Given the description of an element on the screen output the (x, y) to click on. 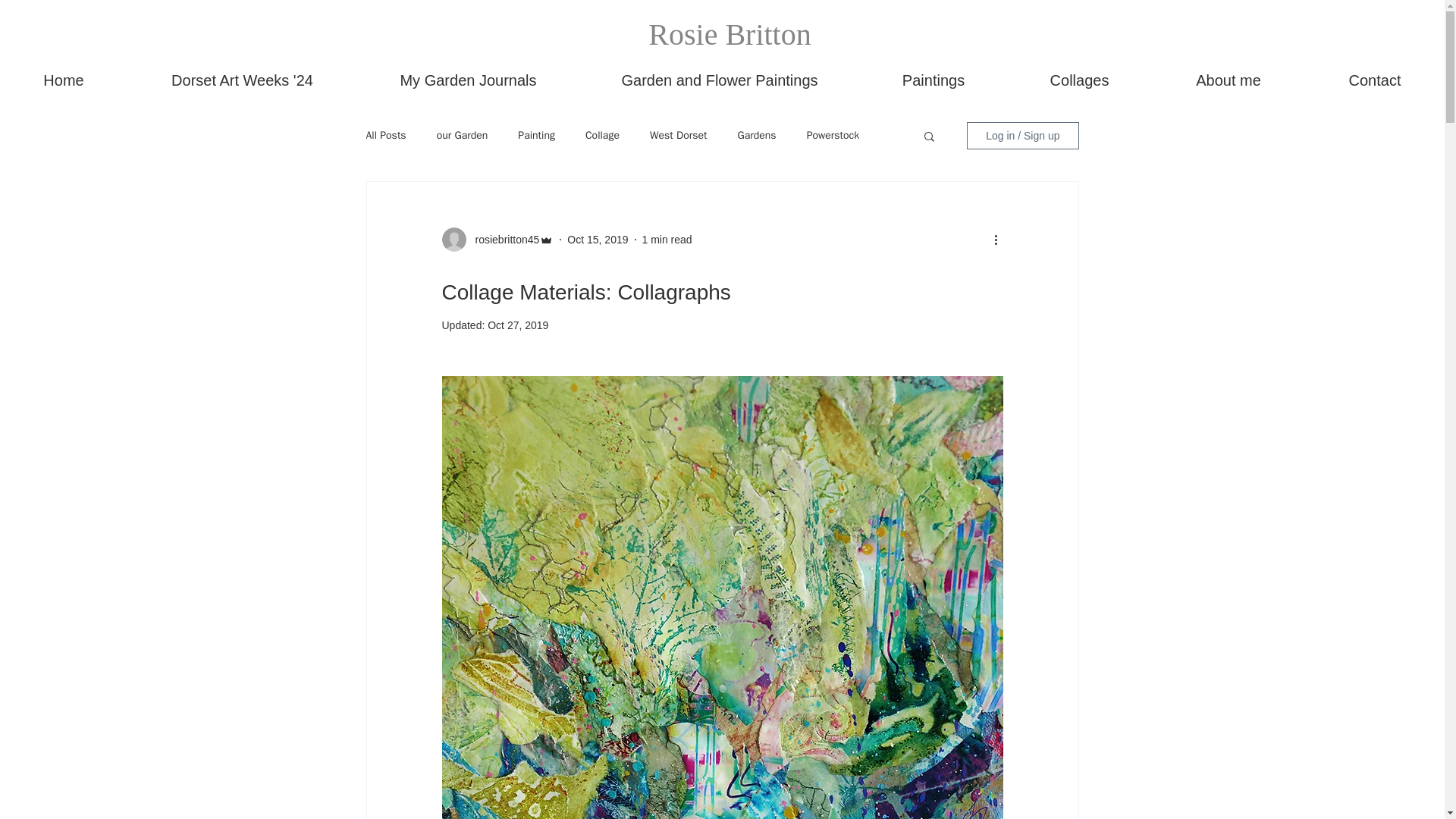
Oct 27, 2019 (517, 325)
Home (64, 79)
Gardens (756, 135)
1 min read (666, 239)
All Posts (385, 135)
Paintings (933, 79)
Oct 15, 2019 (597, 239)
rosiebritton45 (501, 239)
About me (1227, 79)
Collage (602, 135)
